Given the description of an element on the screen output the (x, y) to click on. 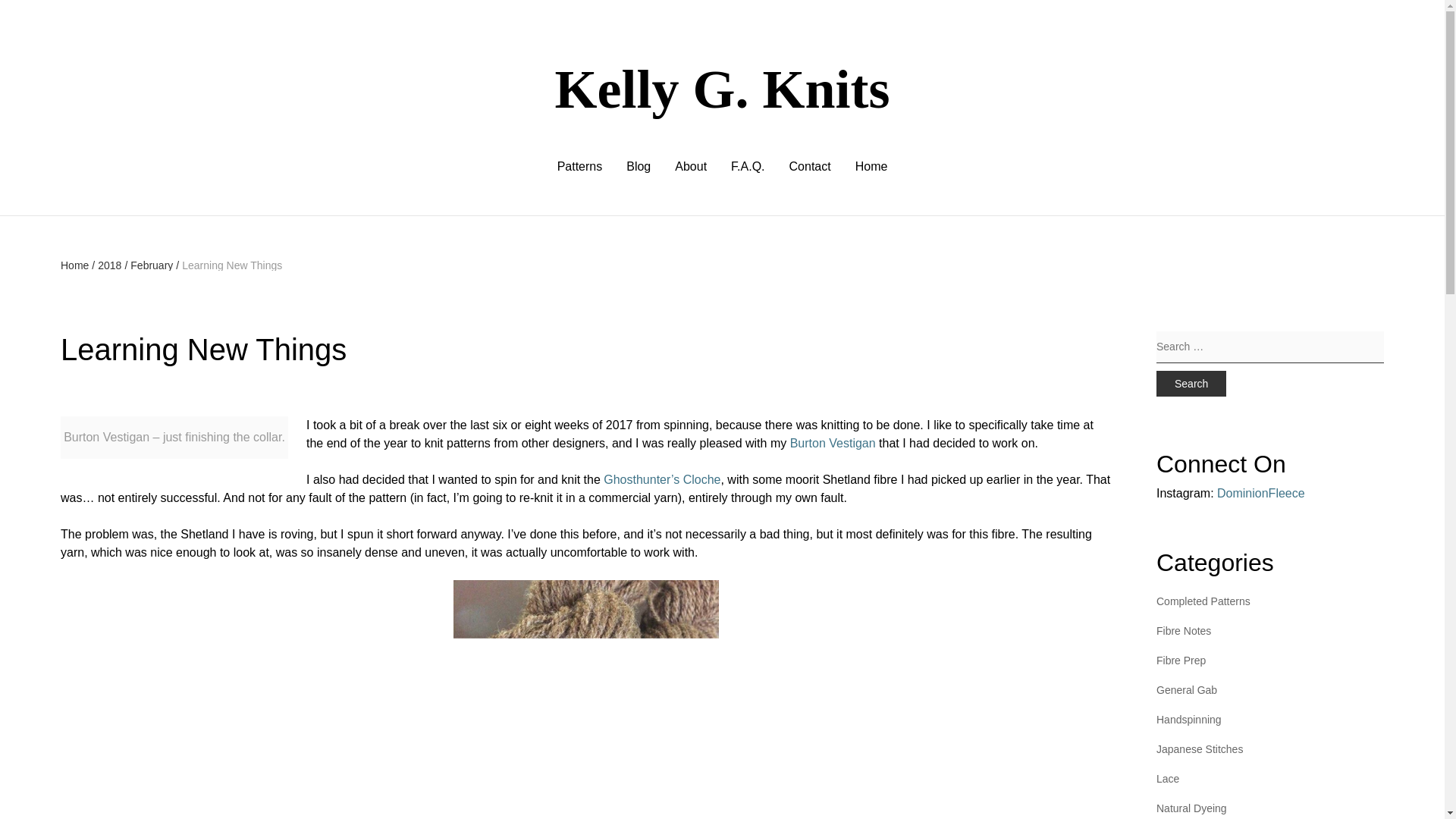
Patterns (579, 166)
Search (1190, 383)
Kelly G. Knits (721, 89)
Search (1190, 383)
